Given the description of an element on the screen output the (x, y) to click on. 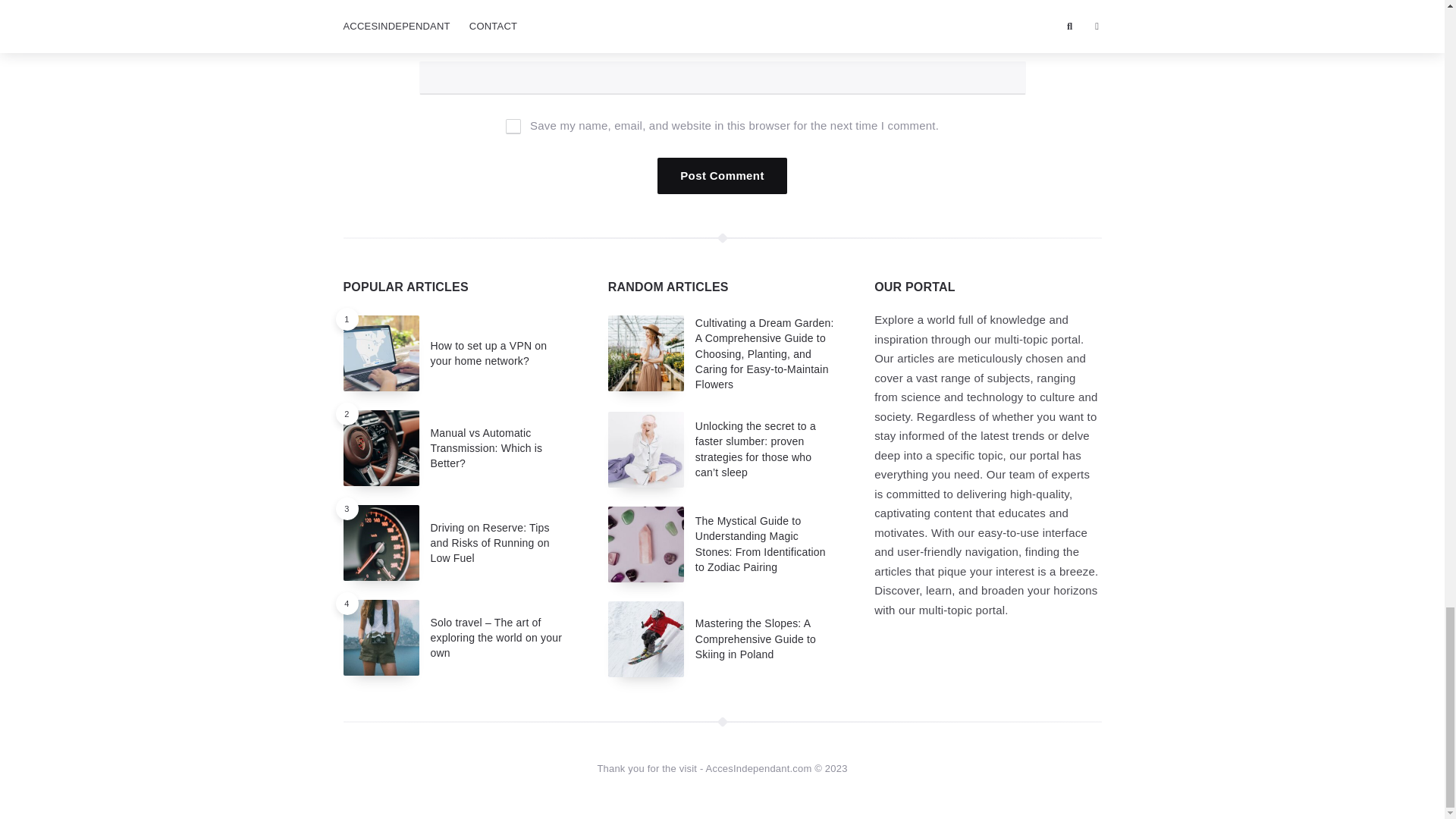
yes (513, 126)
Post comment (722, 176)
How to set up a VPN on your home network? (488, 352)
Driving on Reserve: Tips and Risks of Running on Low Fuel (490, 543)
Manual vs Automatic Transmission: Which is Better? (486, 448)
Post comment (722, 176)
